Given the description of an element on the screen output the (x, y) to click on. 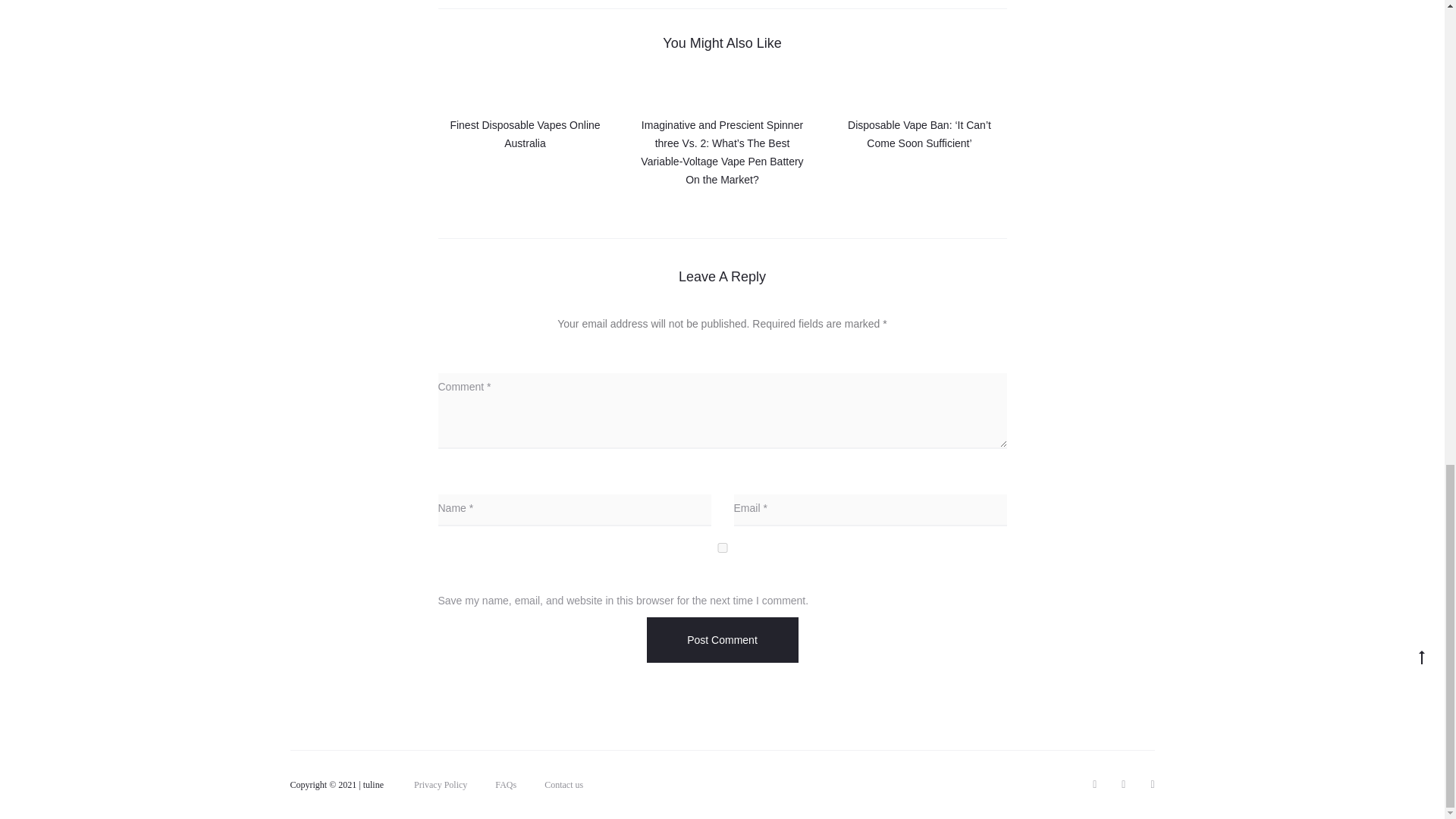
Post Comment (721, 639)
Contact us (563, 784)
Privacy Policy (440, 784)
Post Comment (721, 639)
FAQs (505, 784)
yes (722, 547)
Finest Disposable Vapes Online Australia (524, 133)
